Given the description of an element on the screen output the (x, y) to click on. 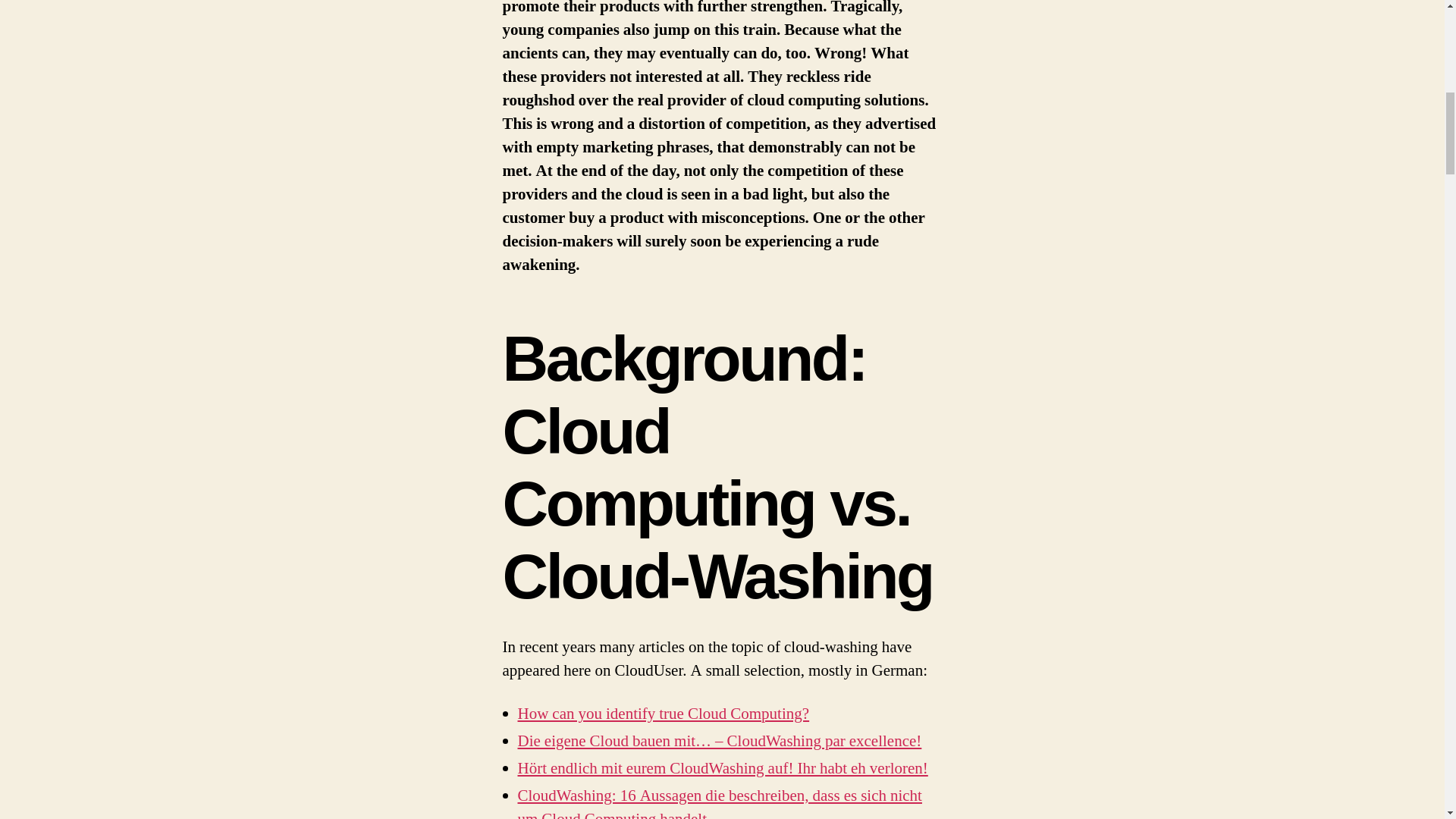
How can you identify true Cloud Computing? (662, 713)
